Given the description of an element on the screen output the (x, y) to click on. 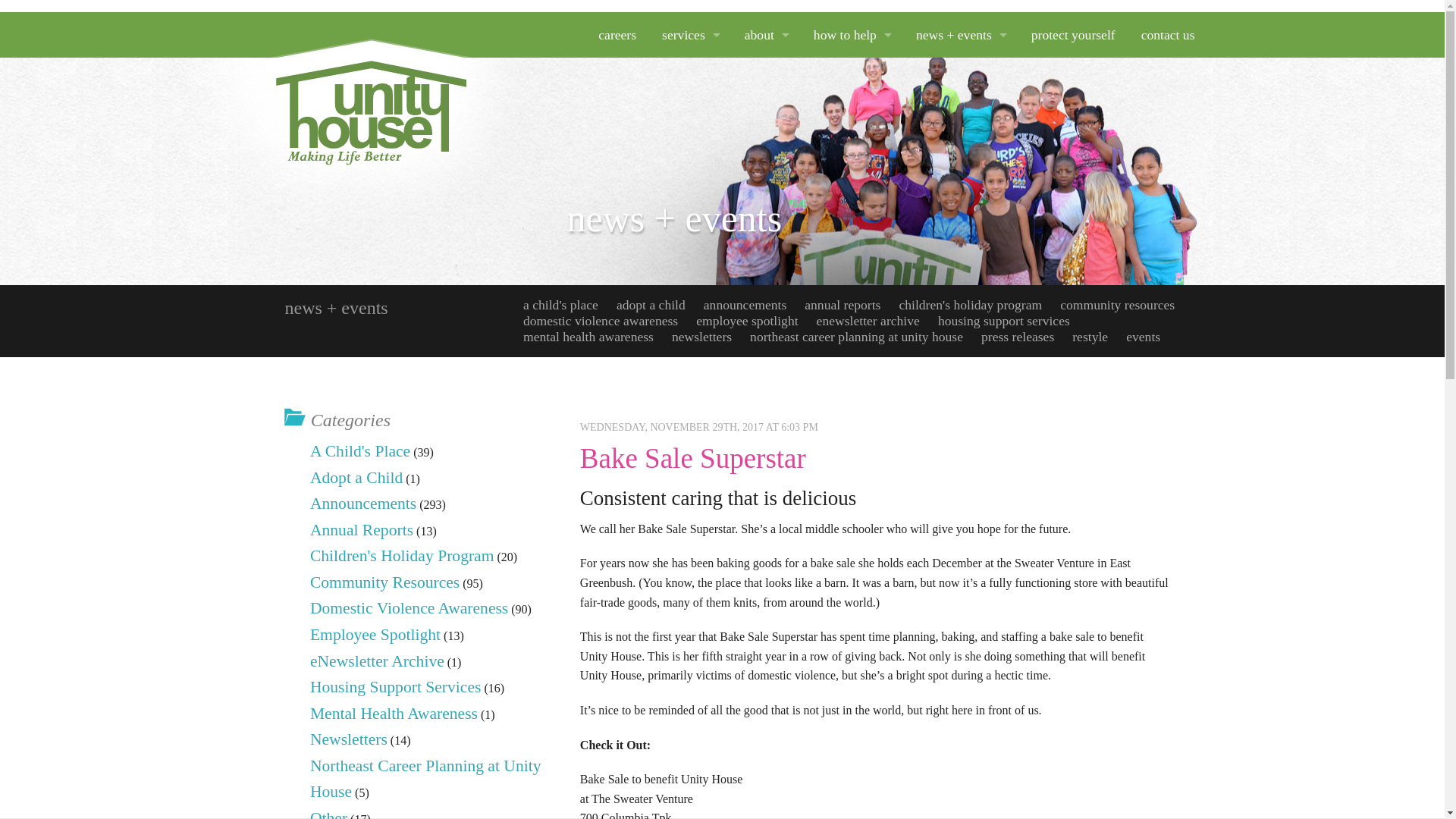
leadership (766, 216)
history (766, 125)
how to help (851, 34)
community resources (690, 80)
contact us (1168, 34)
domestic violence services (690, 216)
attend an event (851, 262)
thrift store donations (851, 171)
annual reports (959, 171)
compliance (766, 262)
